Given the description of an element on the screen output the (x, y) to click on. 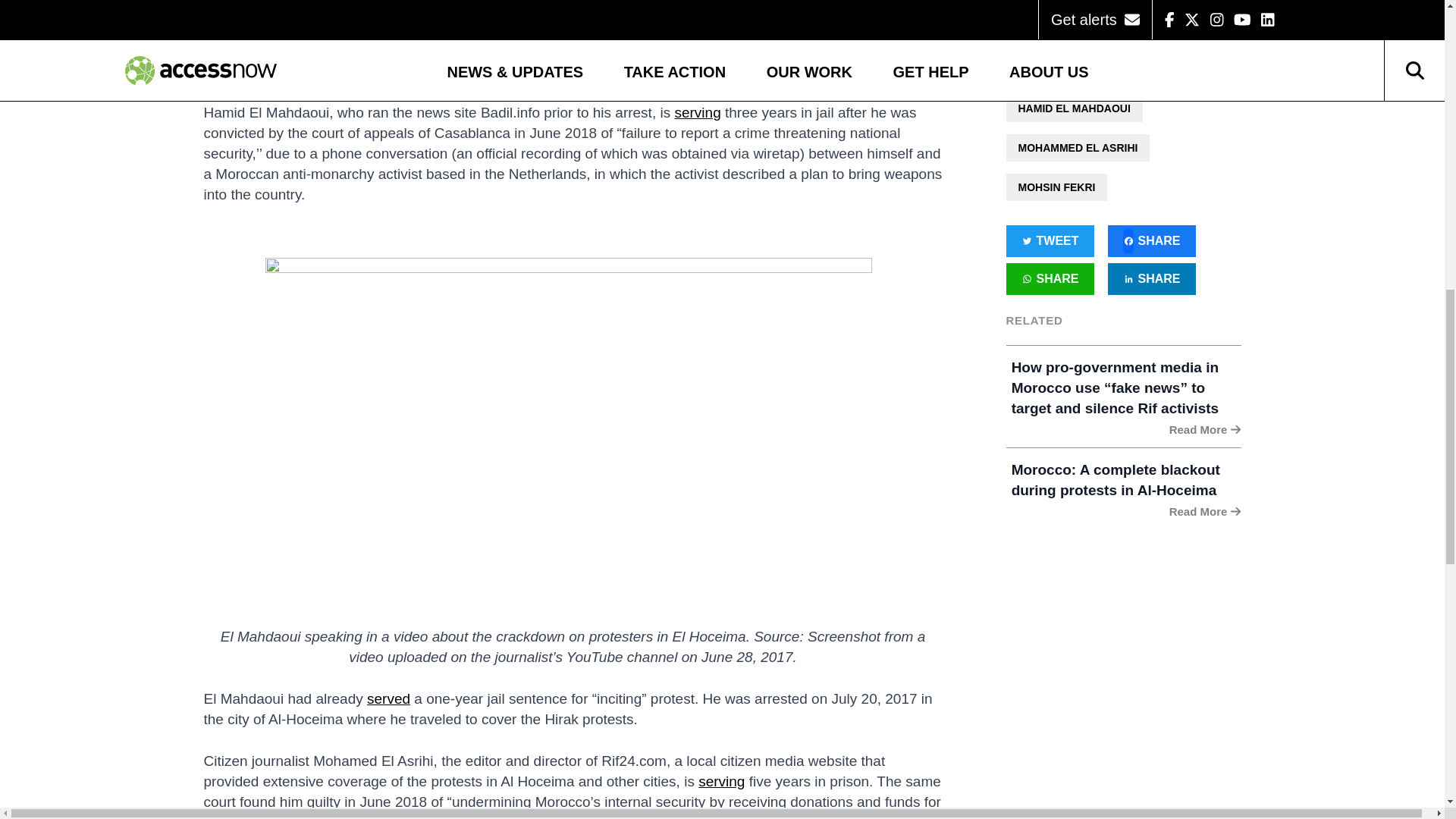
WhatsApp (1049, 278)
Facebook (1150, 241)
LinkedIn (1150, 278)
Twitter (1049, 241)
